Given the description of an element on the screen output the (x, y) to click on. 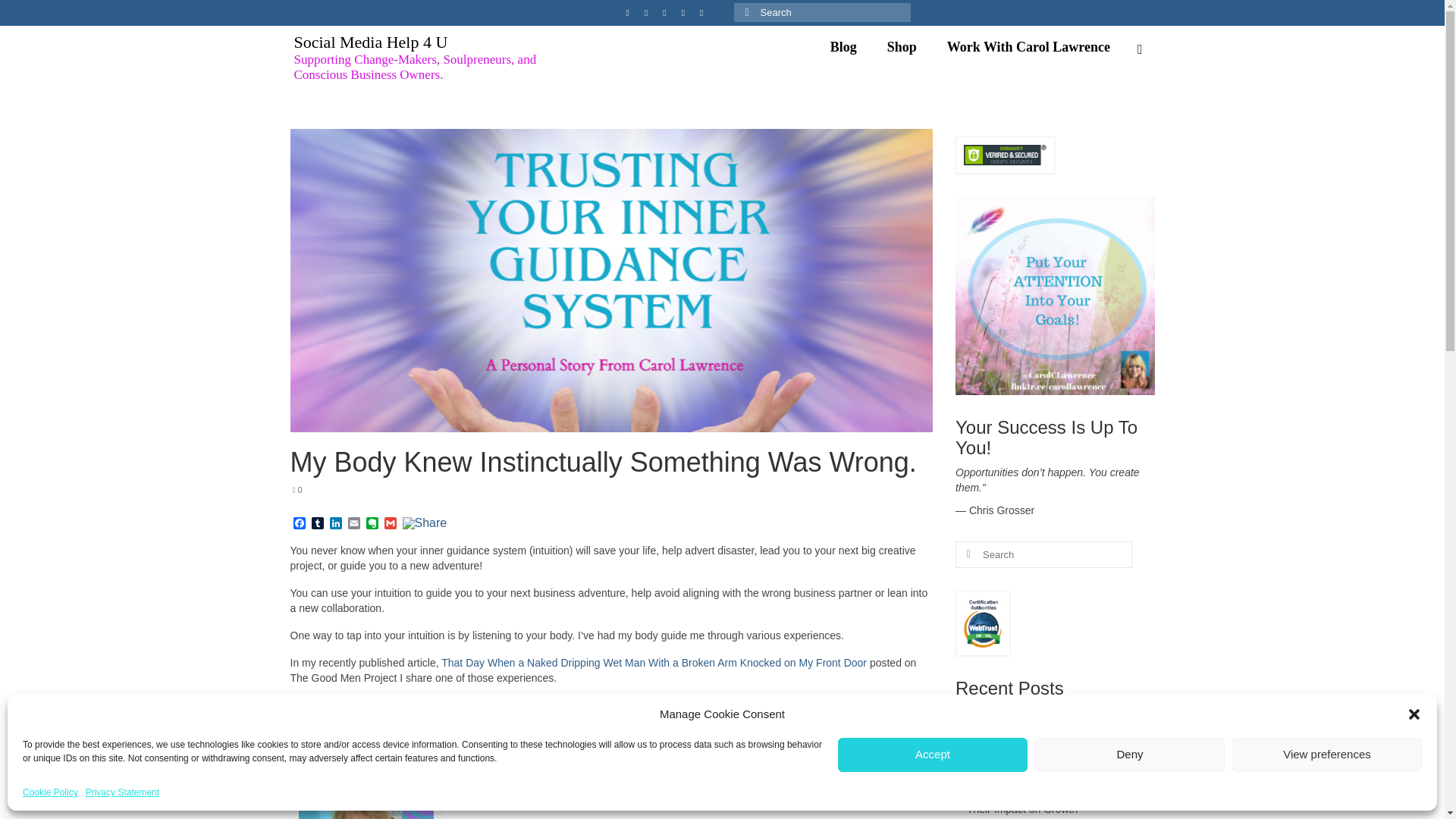
Email (352, 523)
0 (297, 489)
Social Media Help 4 U (371, 41)
Facebook (298, 523)
Tumblr (316, 523)
LinkedIn (334, 523)
Blog (843, 46)
Evernote (371, 523)
Facebook (298, 523)
Social Media Help 4 U (371, 41)
Search (1139, 49)
Gmail (389, 523)
Work With Carol Lawrence (1028, 46)
Shop (901, 46)
